Given the description of an element on the screen output the (x, y) to click on. 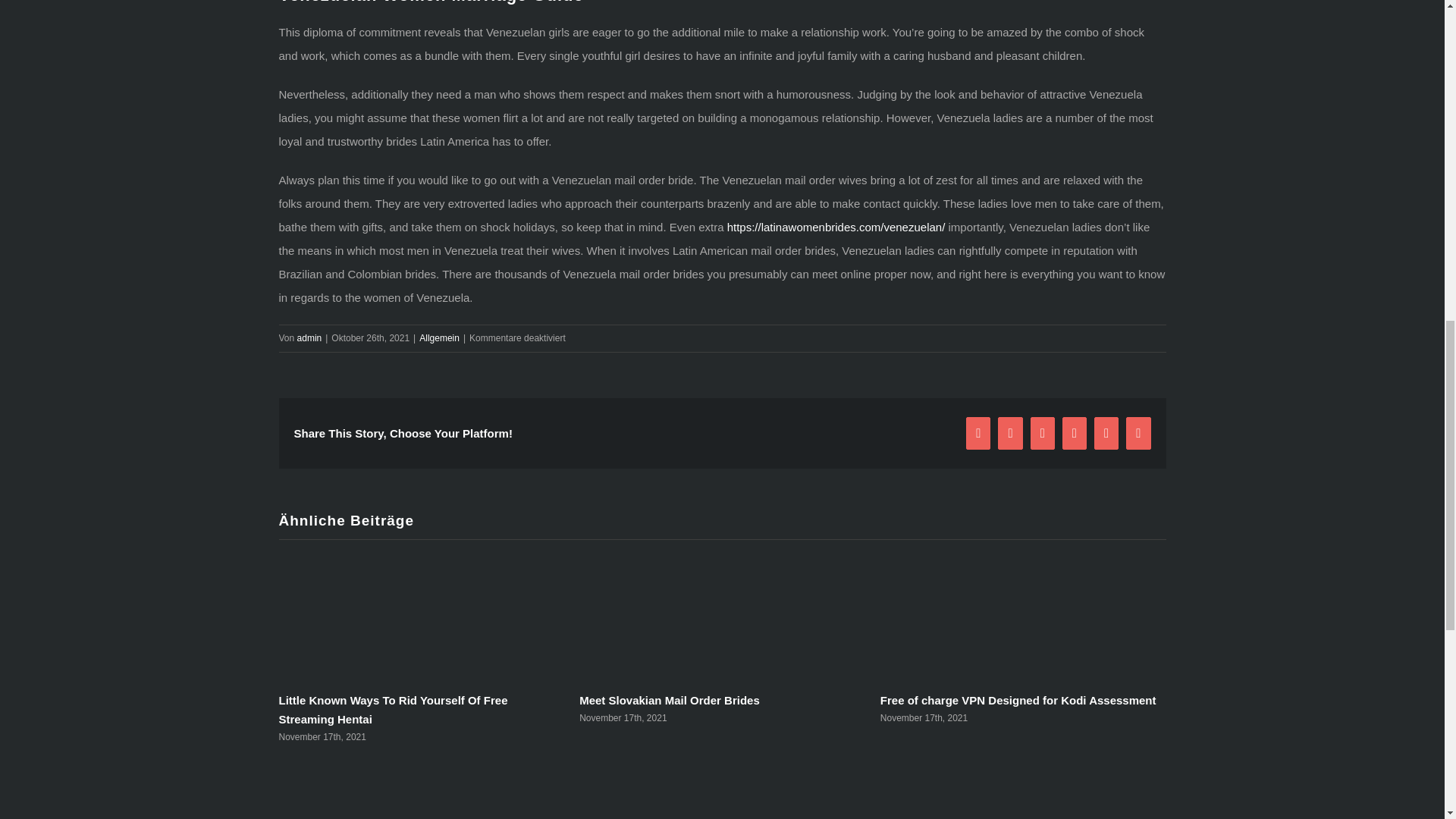
Meet Slovakian Mail Order Brides (669, 699)
Free of charge VPN Designed for Kodi Assessment (1018, 699)
Little Known Ways To Rid Yourself Of Free Streaming Hentai (393, 709)
